Given the description of an element on the screen output the (x, y) to click on. 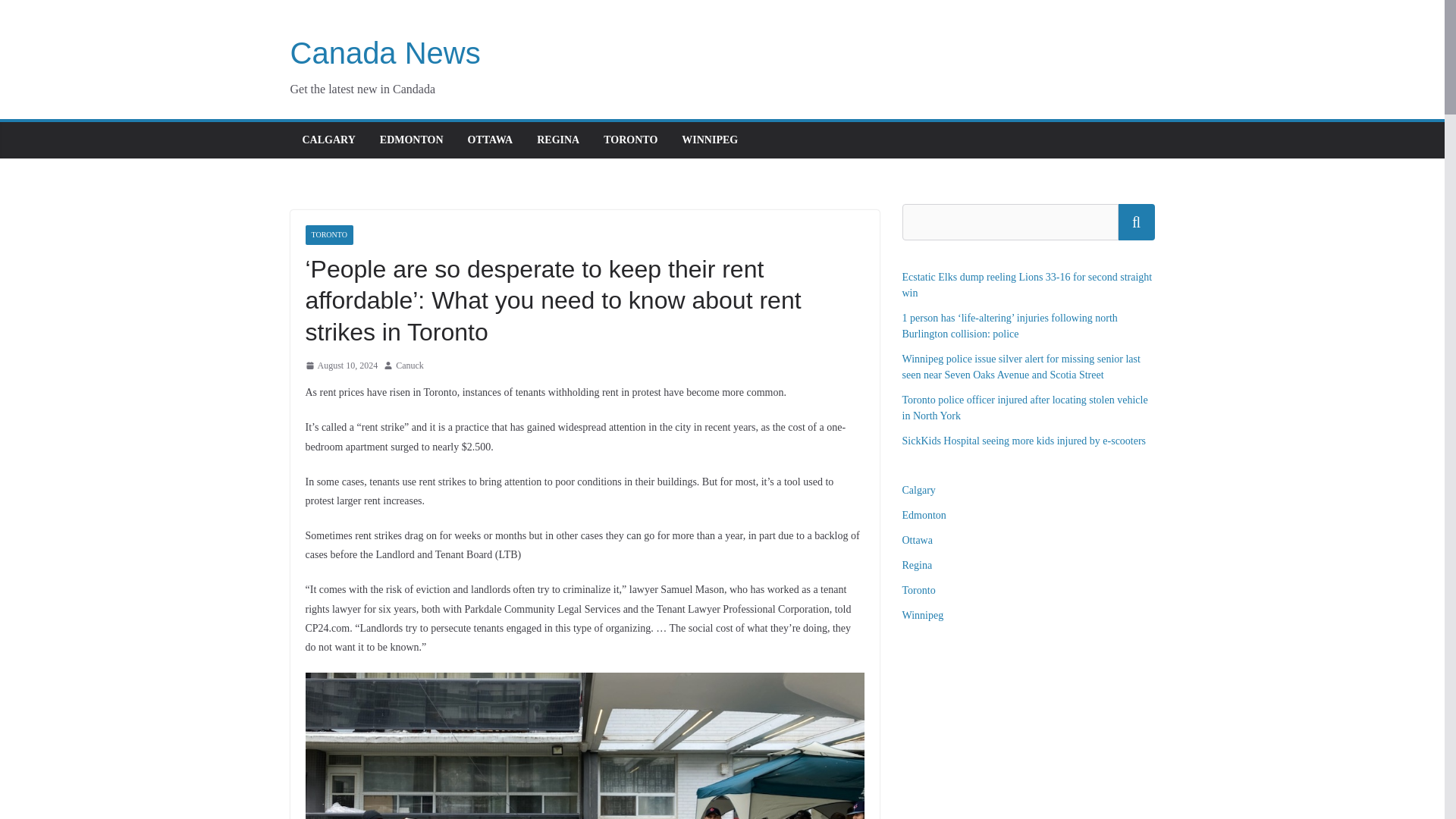
WINNIPEG (709, 139)
Canuck (409, 365)
Canuck (409, 365)
Canada News (384, 52)
REGINA (558, 139)
OTTAWA (490, 139)
August 10, 2024 (340, 365)
CALGARY (328, 139)
TORONTO (631, 139)
5:00 am (340, 365)
